Given the description of an element on the screen output the (x, y) to click on. 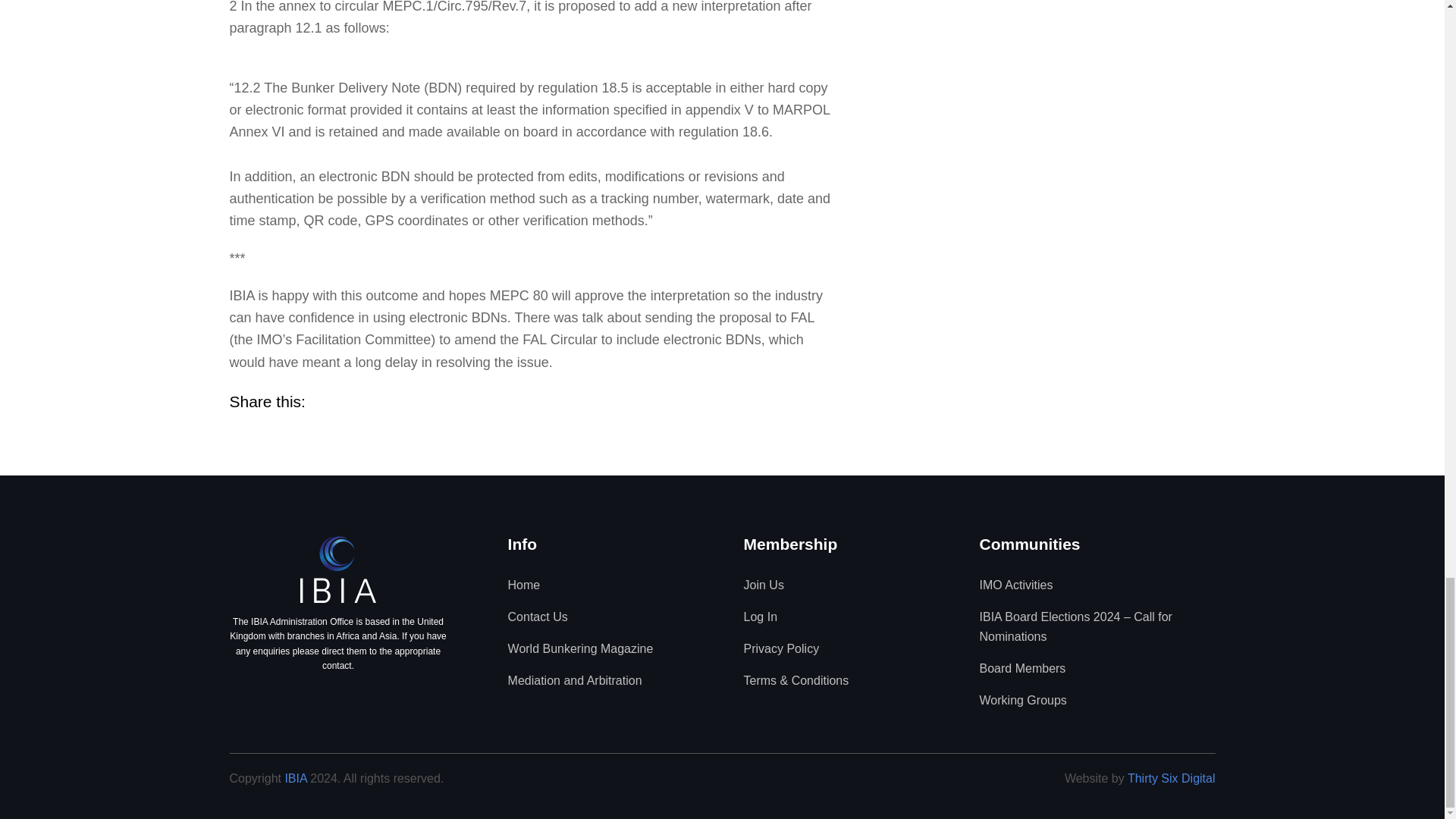
facebook (287, 699)
instagram (313, 699)
linkedin (339, 699)
twitter (365, 699)
youtube (393, 699)
